Given the description of an element on the screen output the (x, y) to click on. 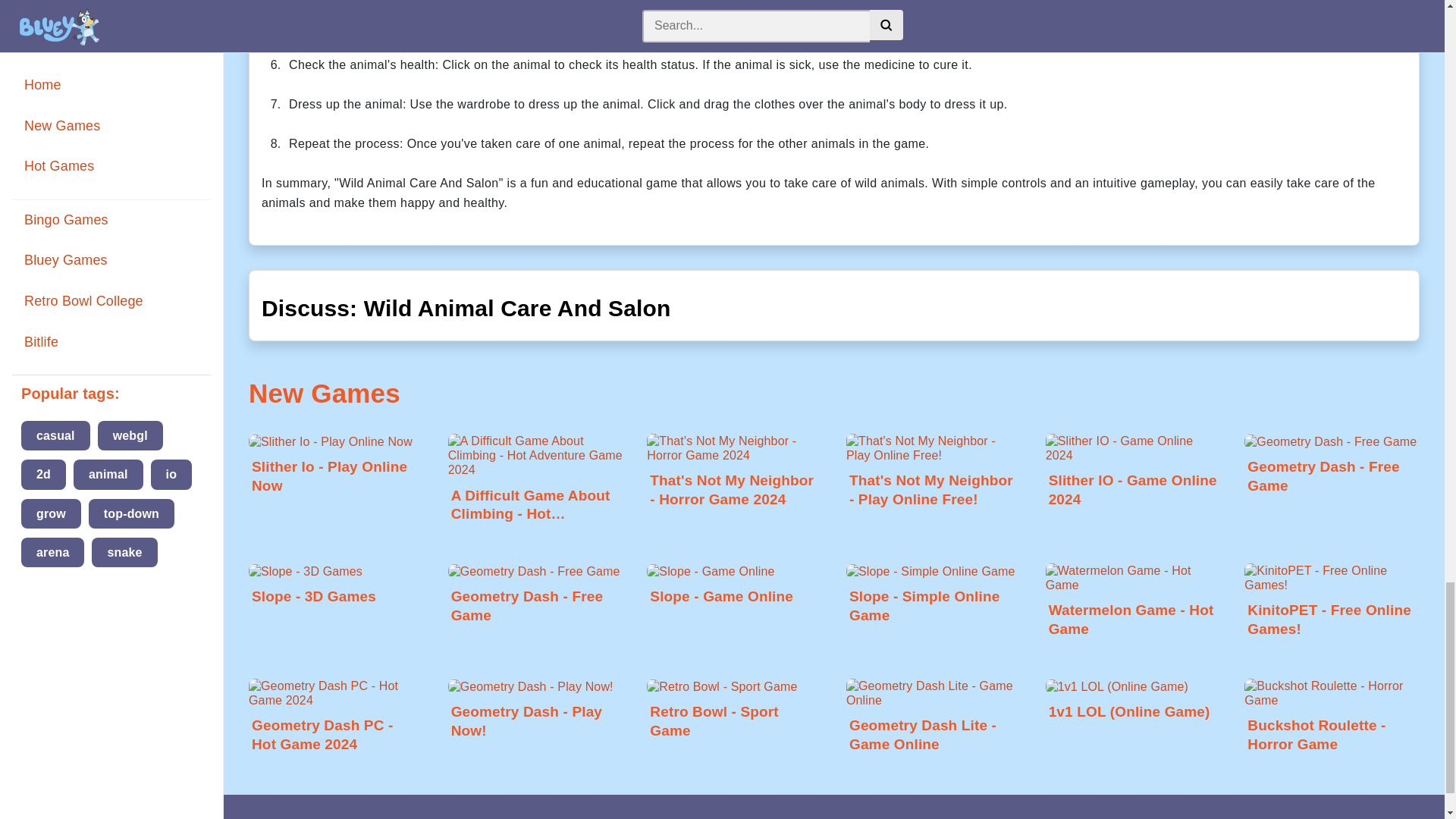
New Games (324, 392)
